Given the description of an element on the screen output the (x, y) to click on. 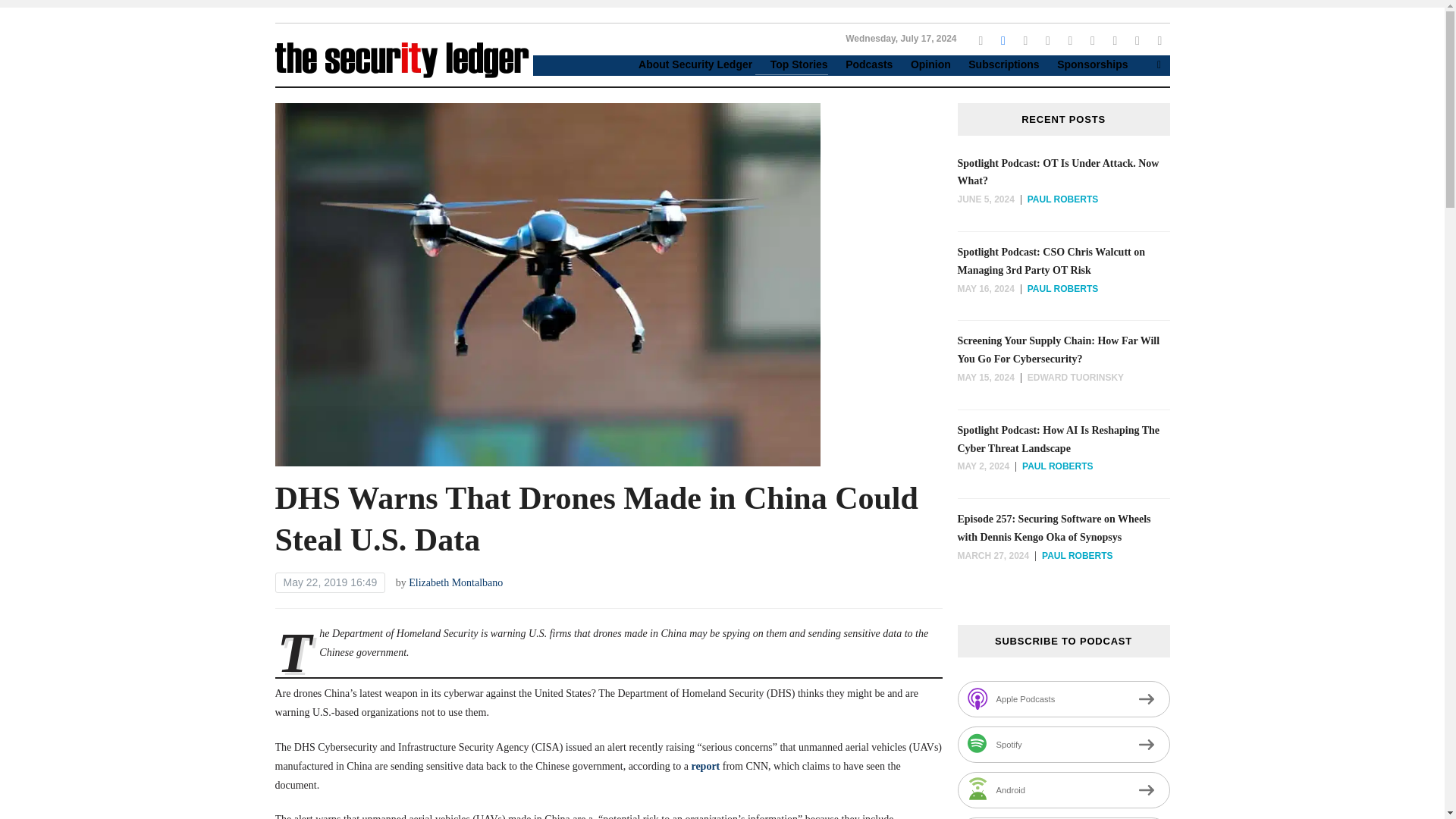
youtube (1069, 39)
TOP STORIES (147, 60)
Top Stories (791, 65)
twitter (980, 39)
SPONSORSHIPS (166, 182)
mail (1159, 39)
Default Label (1159, 39)
Follow Me (1002, 39)
Search (1158, 64)
Default Label (1115, 39)
Default Label (1092, 39)
About Security Ledger (687, 64)
Default Label (1137, 39)
soundcloud (1115, 39)
Default Label (1069, 39)
